Given the description of an element on the screen output the (x, y) to click on. 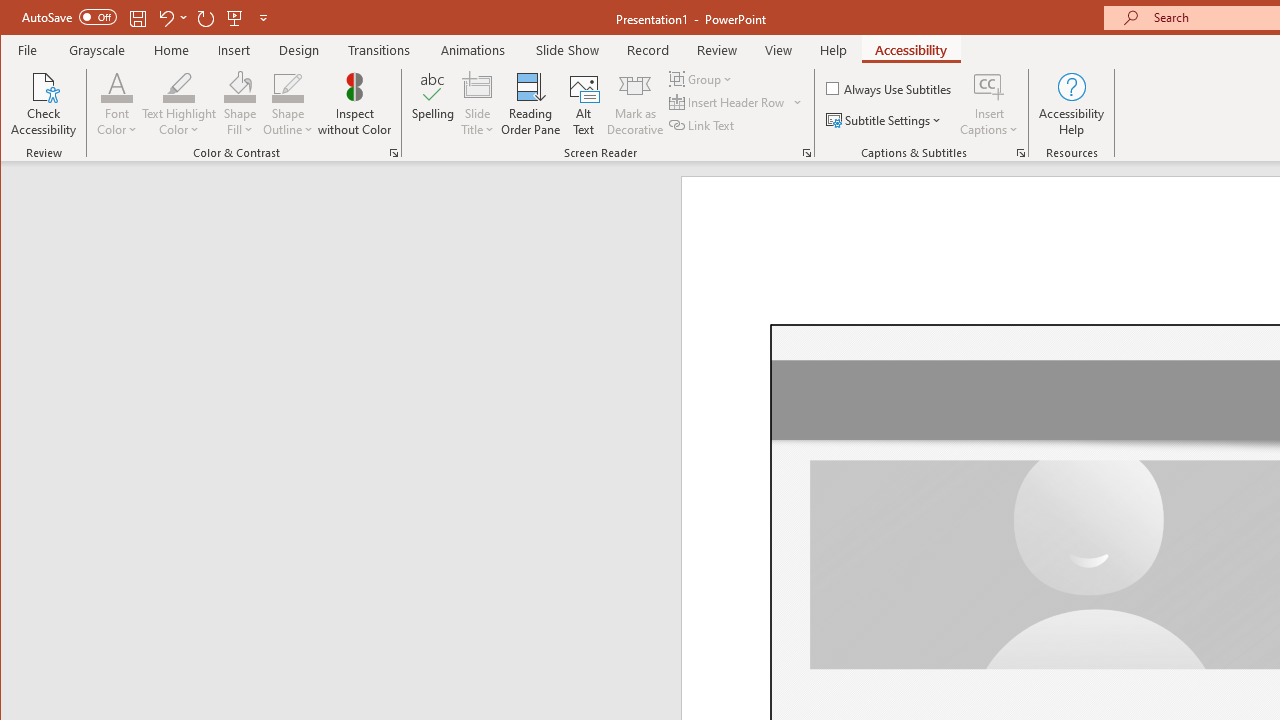
Inspect without Color (355, 104)
Mark as Decorative (635, 104)
Reading Order Pane (531, 104)
